Given the description of an element on the screen output the (x, y) to click on. 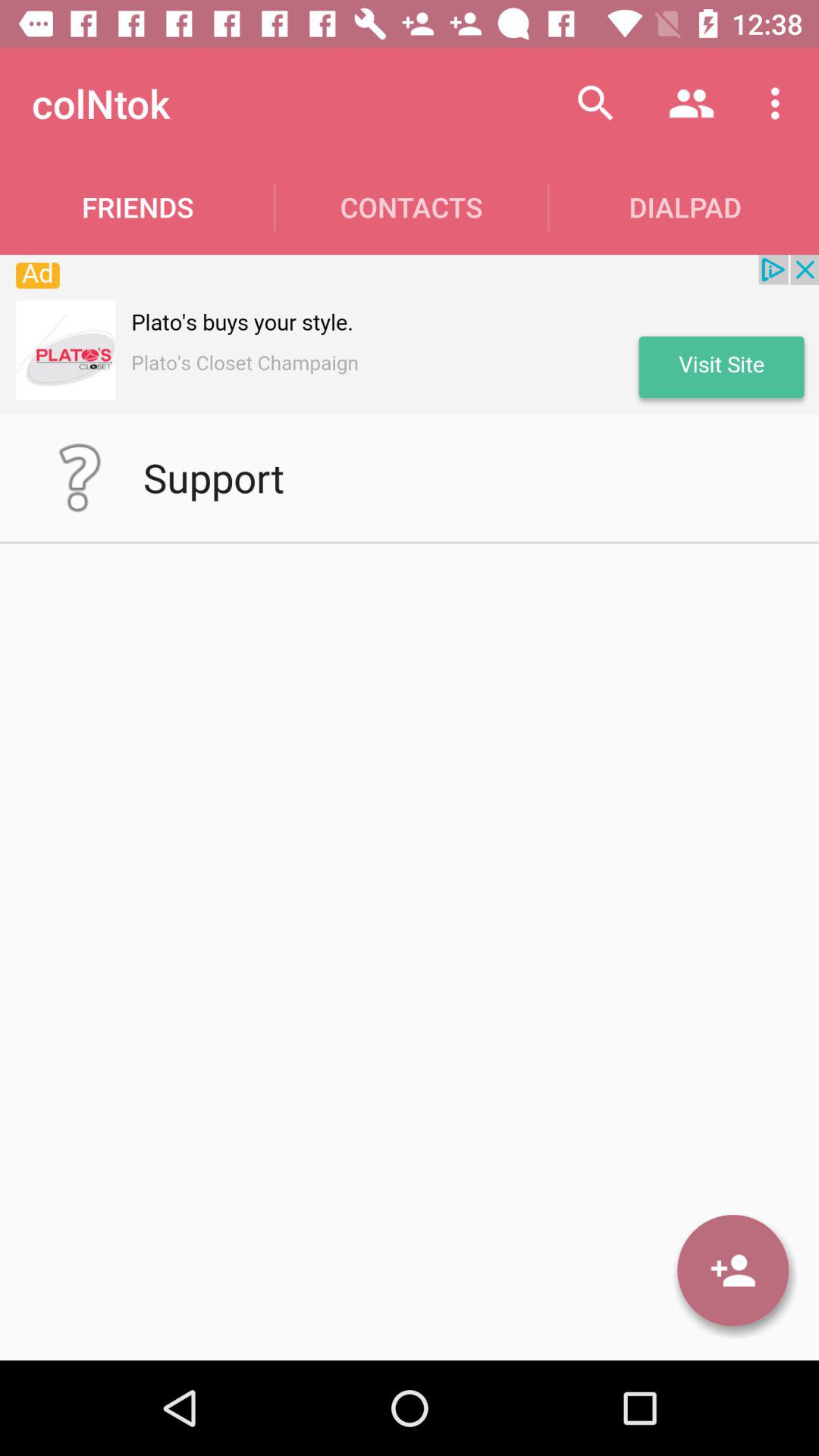
to get support (79, 477)
